Given the description of an element on the screen output the (x, y) to click on. 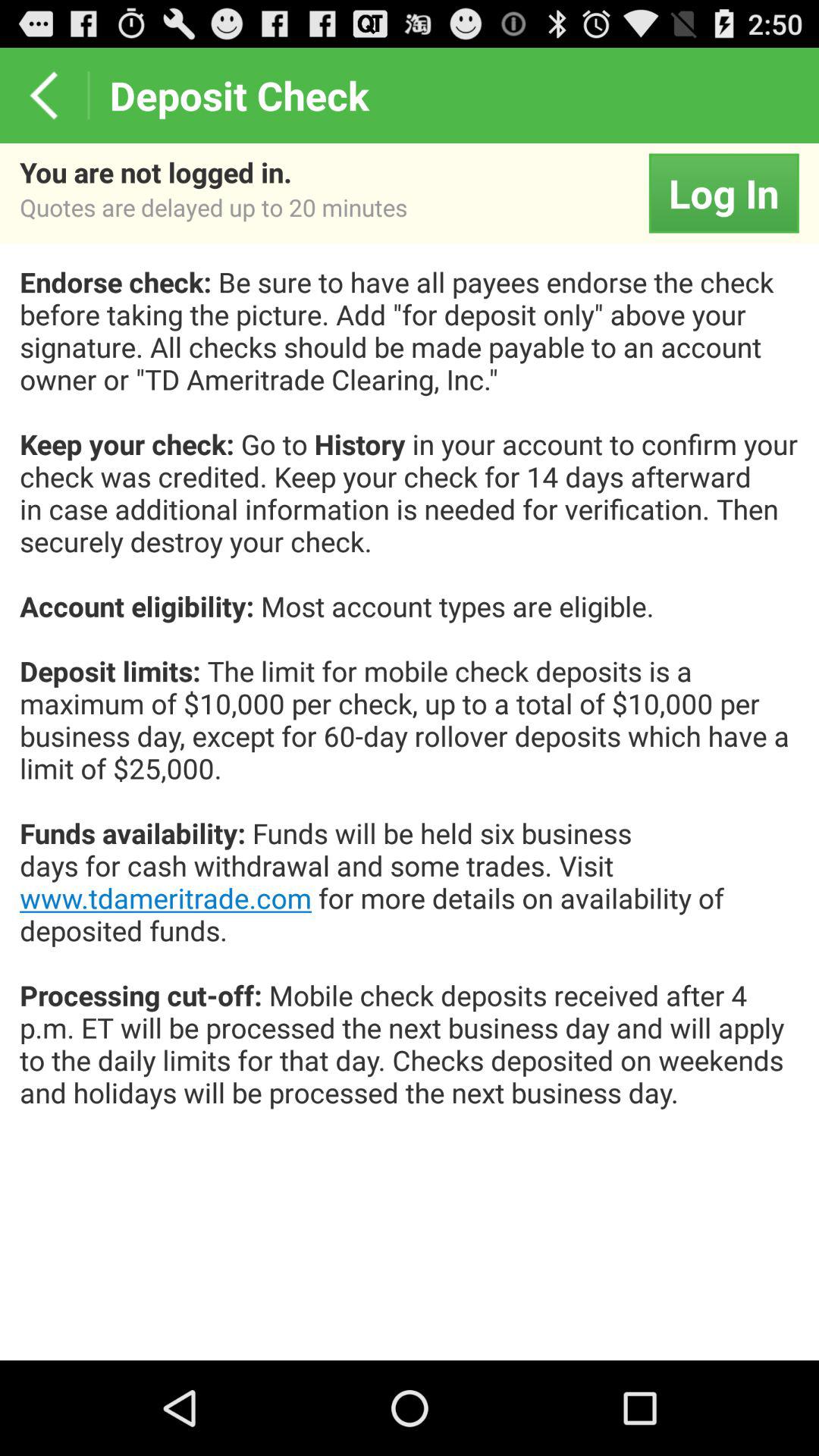
jump until log in item (723, 193)
